Given the description of an element on the screen output the (x, y) to click on. 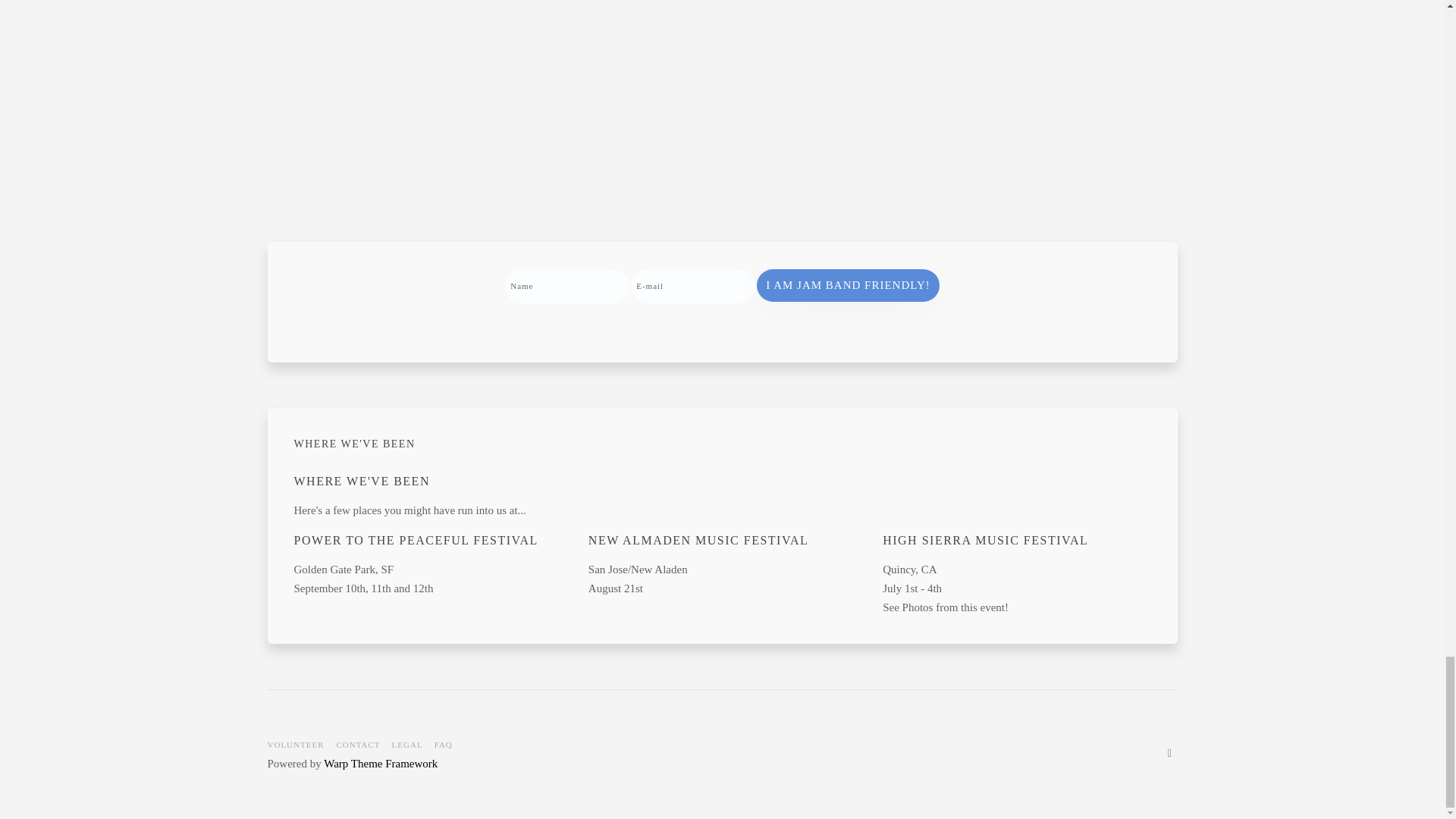
E-mail (692, 286)
I am Jam Band Friendly! (848, 285)
E-mail (692, 286)
Name (566, 286)
Name (566, 286)
